Given the description of an element on the screen output the (x, y) to click on. 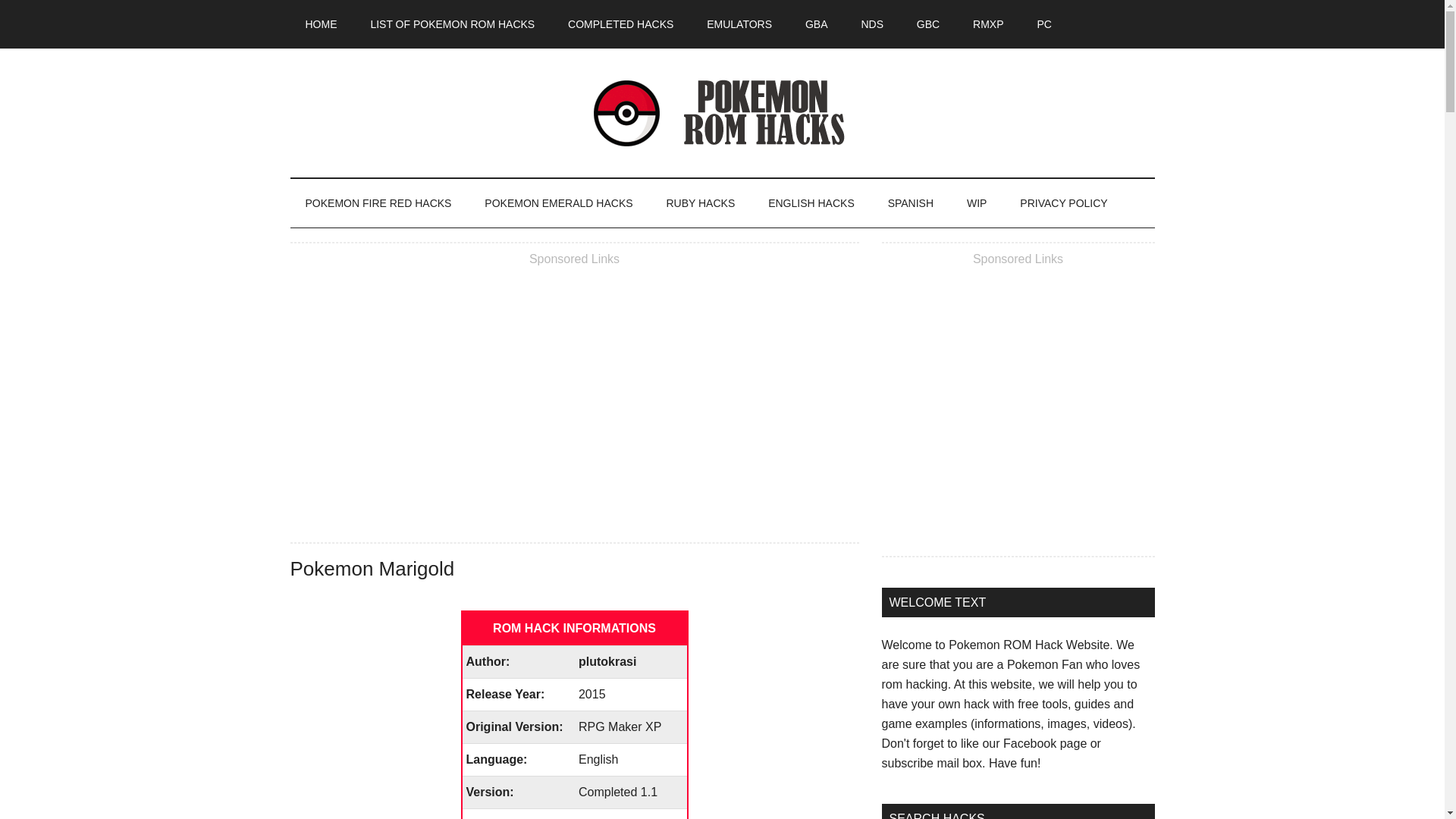
COMPLETED HACKS (620, 24)
PC (1043, 24)
Advertisement (574, 397)
SPANISH (910, 203)
POKEMON FIRE RED HACKS (377, 203)
GBC (928, 24)
NDS (871, 24)
LIST OF POKEMON ROM HACKS (452, 24)
WIP (976, 203)
Pokemon ROM Hacks (721, 112)
EMULATORS (739, 24)
ENGLISH HACKS (810, 203)
POKEMON EMERALD HACKS (557, 203)
HOME (320, 24)
GBA (816, 24)
